Given the description of an element on the screen output the (x, y) to click on. 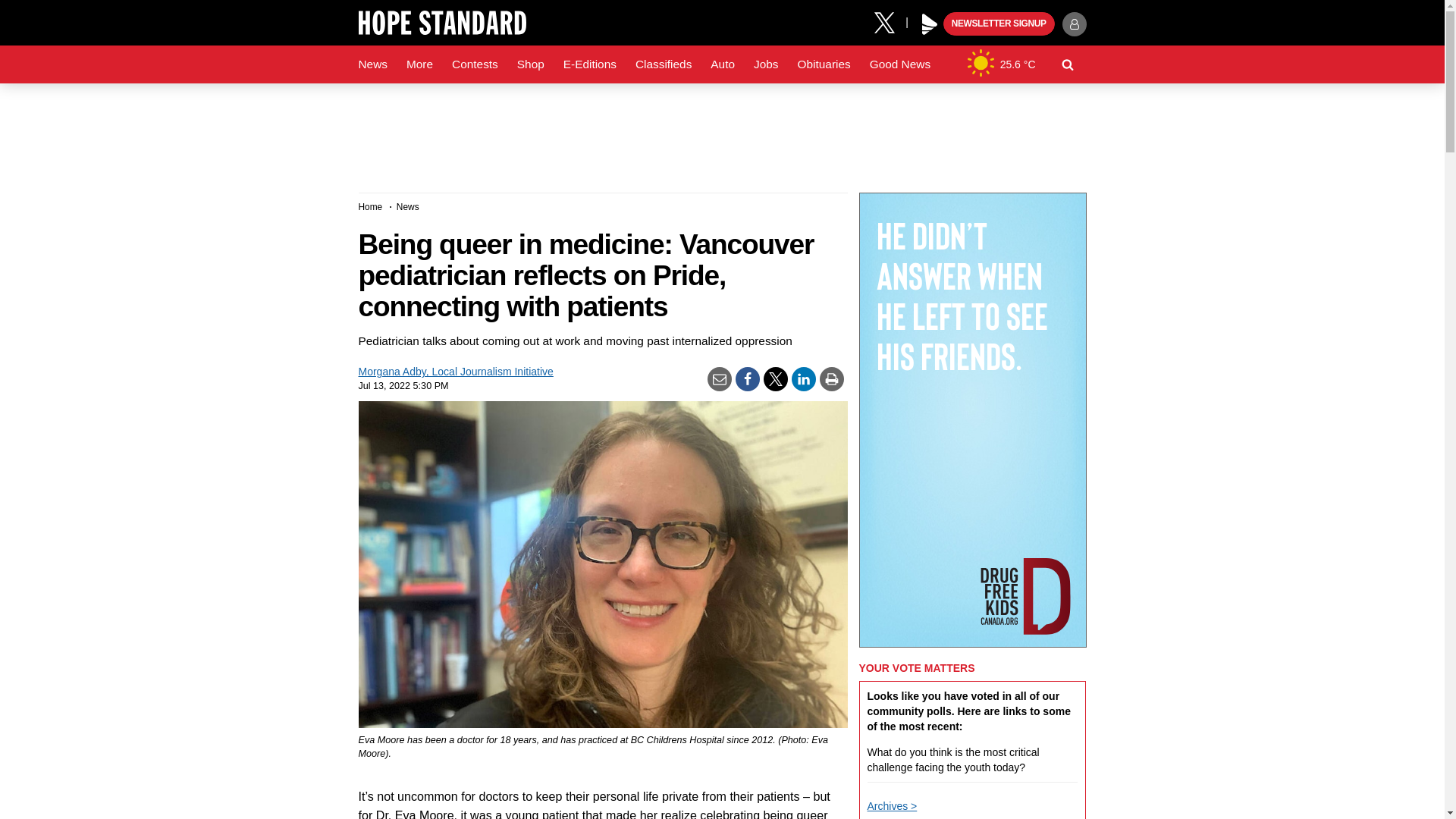
Black Press Media (929, 24)
X (889, 21)
NEWSLETTER SIGNUP (998, 24)
Play (929, 24)
3rd party ad content (721, 131)
News (372, 64)
